Given the description of an element on the screen output the (x, y) to click on. 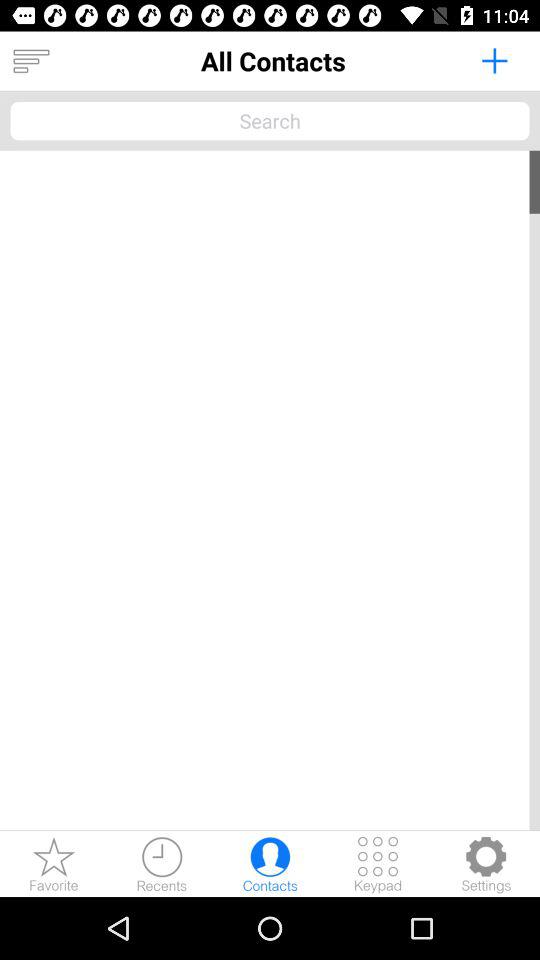
go to phone keypad (377, 864)
